Given the description of an element on the screen output the (x, y) to click on. 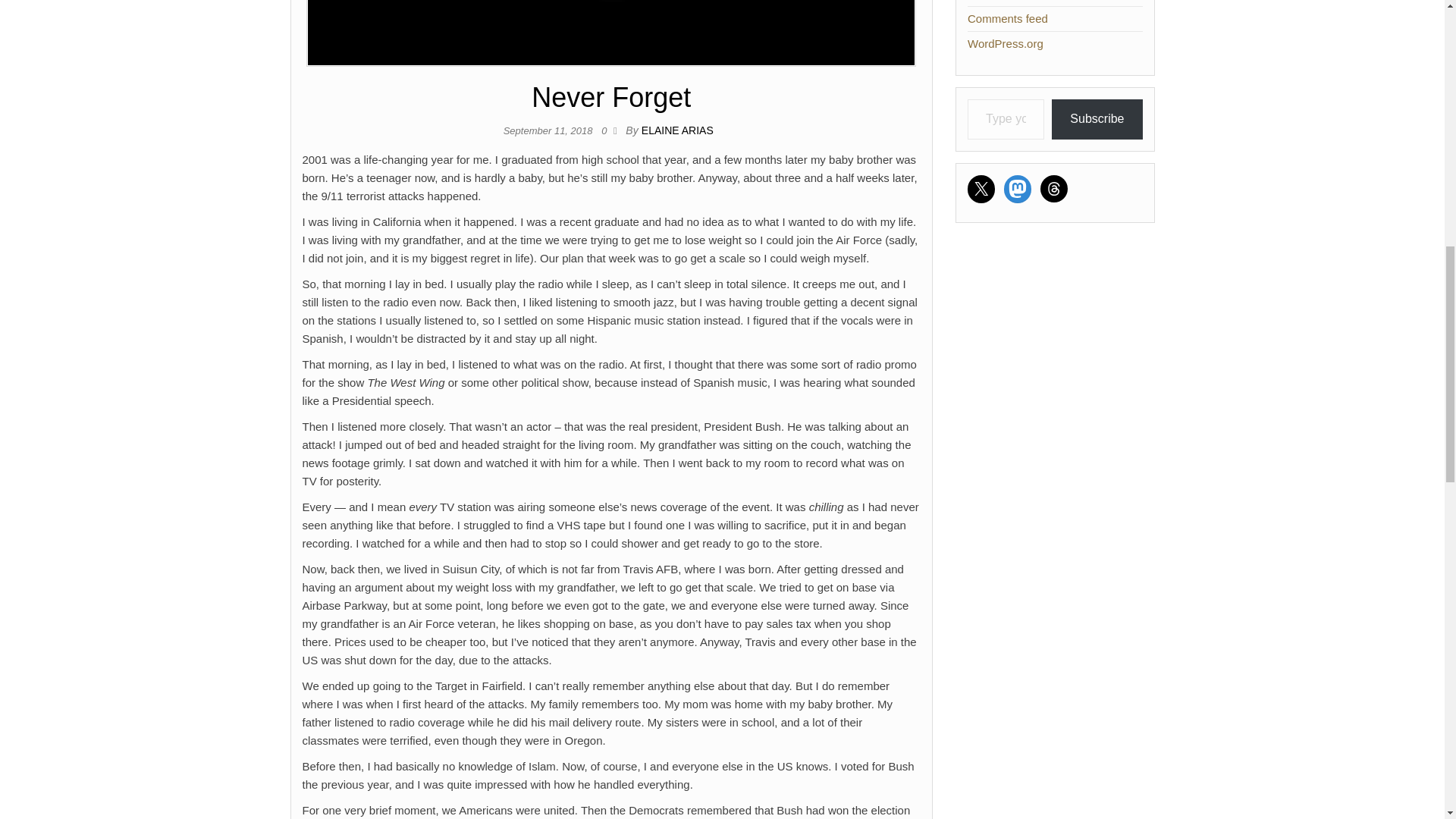
Threads (1054, 188)
X (981, 188)
Mastodon (1017, 188)
0 (606, 130)
WordPress.org (1005, 42)
Subscribe (1096, 119)
Comments feed (1008, 18)
Please fill in this field. (1005, 119)
ELAINE ARIAS (677, 130)
Comment on Never Forget (606, 130)
